Given the description of an element on the screen output the (x, y) to click on. 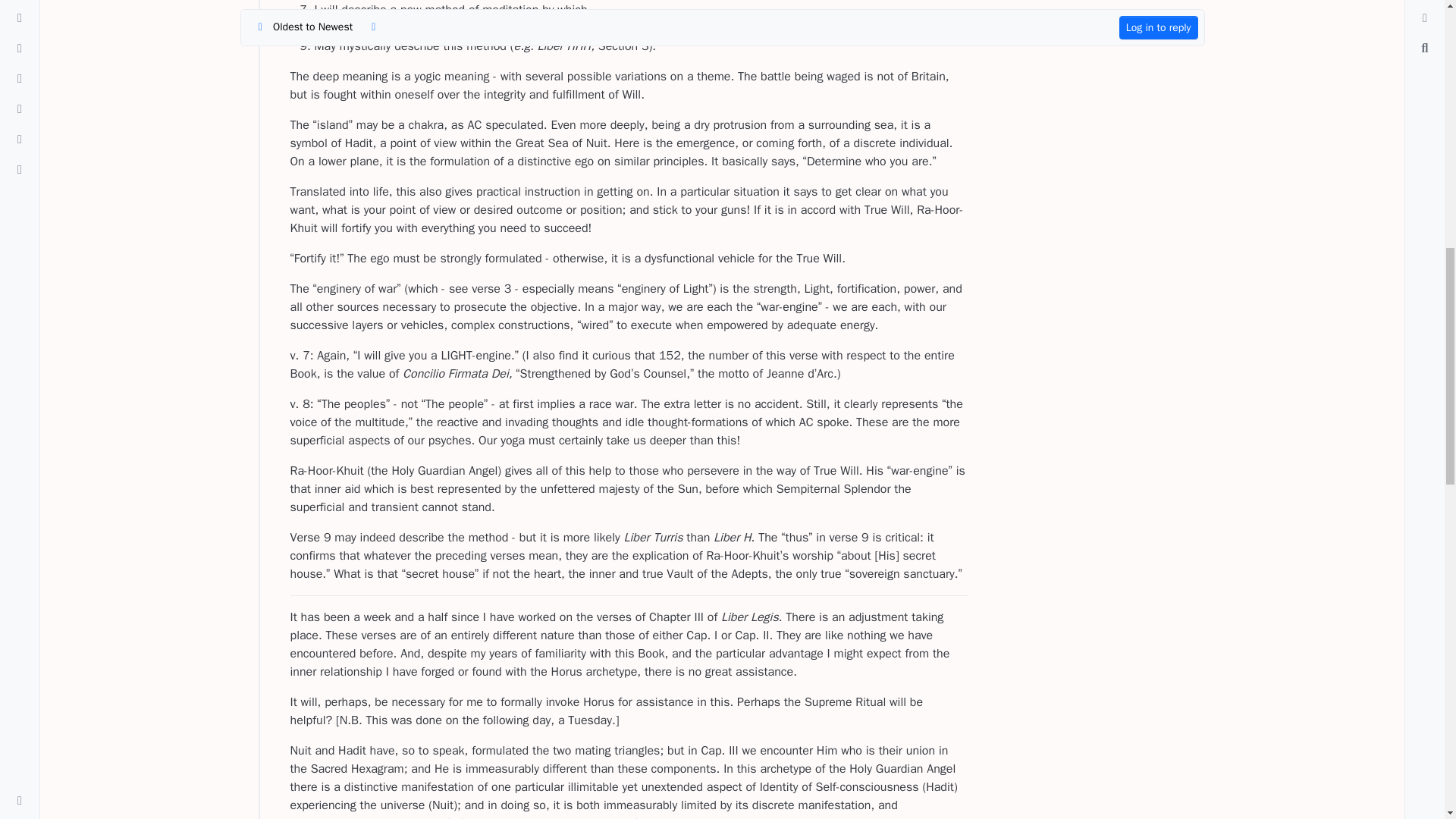
Expand (19, 129)
